Given the description of an element on the screen output the (x, y) to click on. 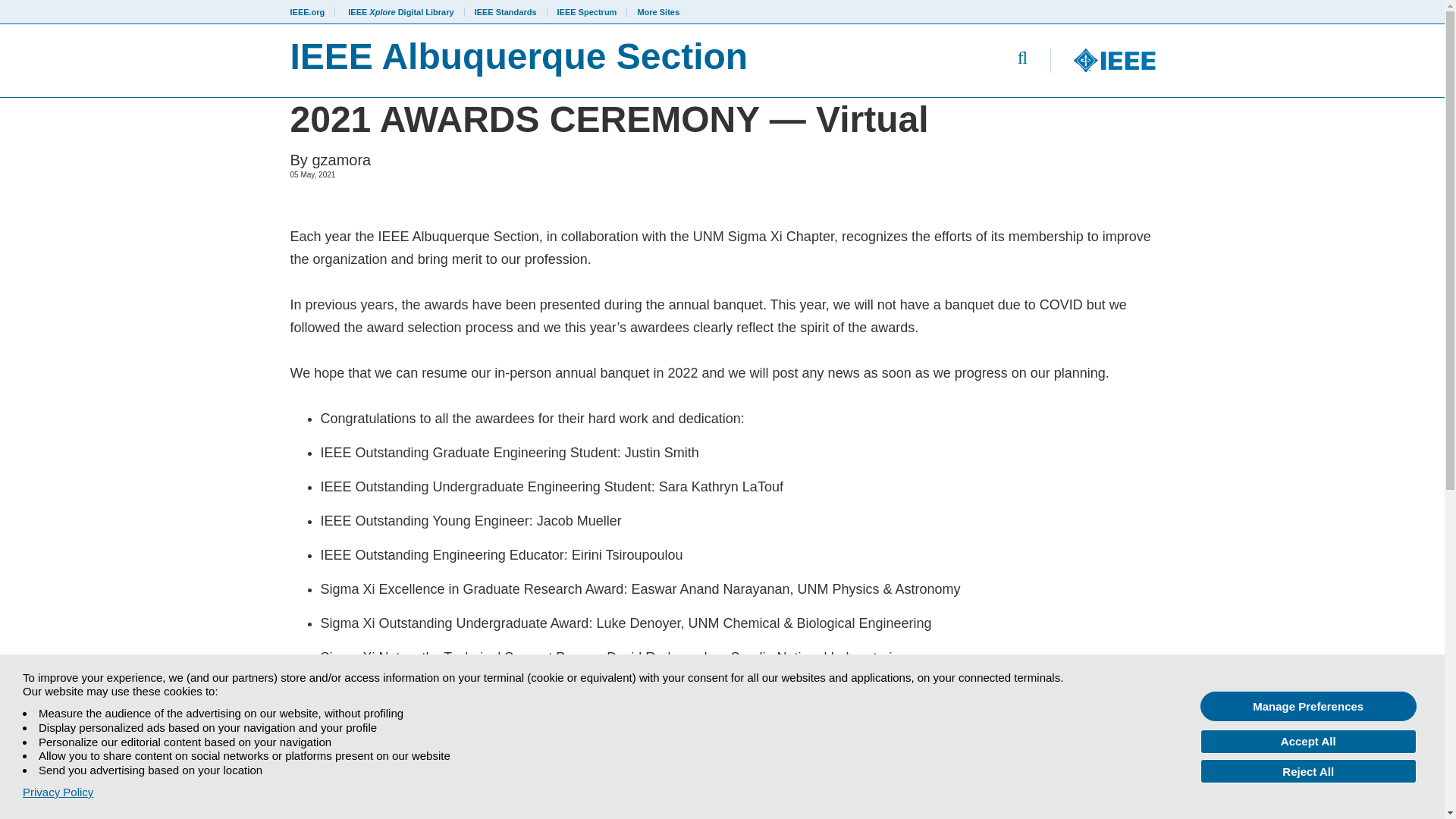
More Sites (653, 11)
IEEE Standards (505, 11)
IEEE Albuquerque Section (536, 60)
Manage Preferences (1307, 706)
IEEE Spectrum (587, 11)
Privacy Policy (58, 792)
IEEE Xplore Digital Library (400, 11)
Accept All (1307, 741)
IEEE Albuquerque Section (536, 60)
Reject All (1307, 770)
